Given the description of an element on the screen output the (x, y) to click on. 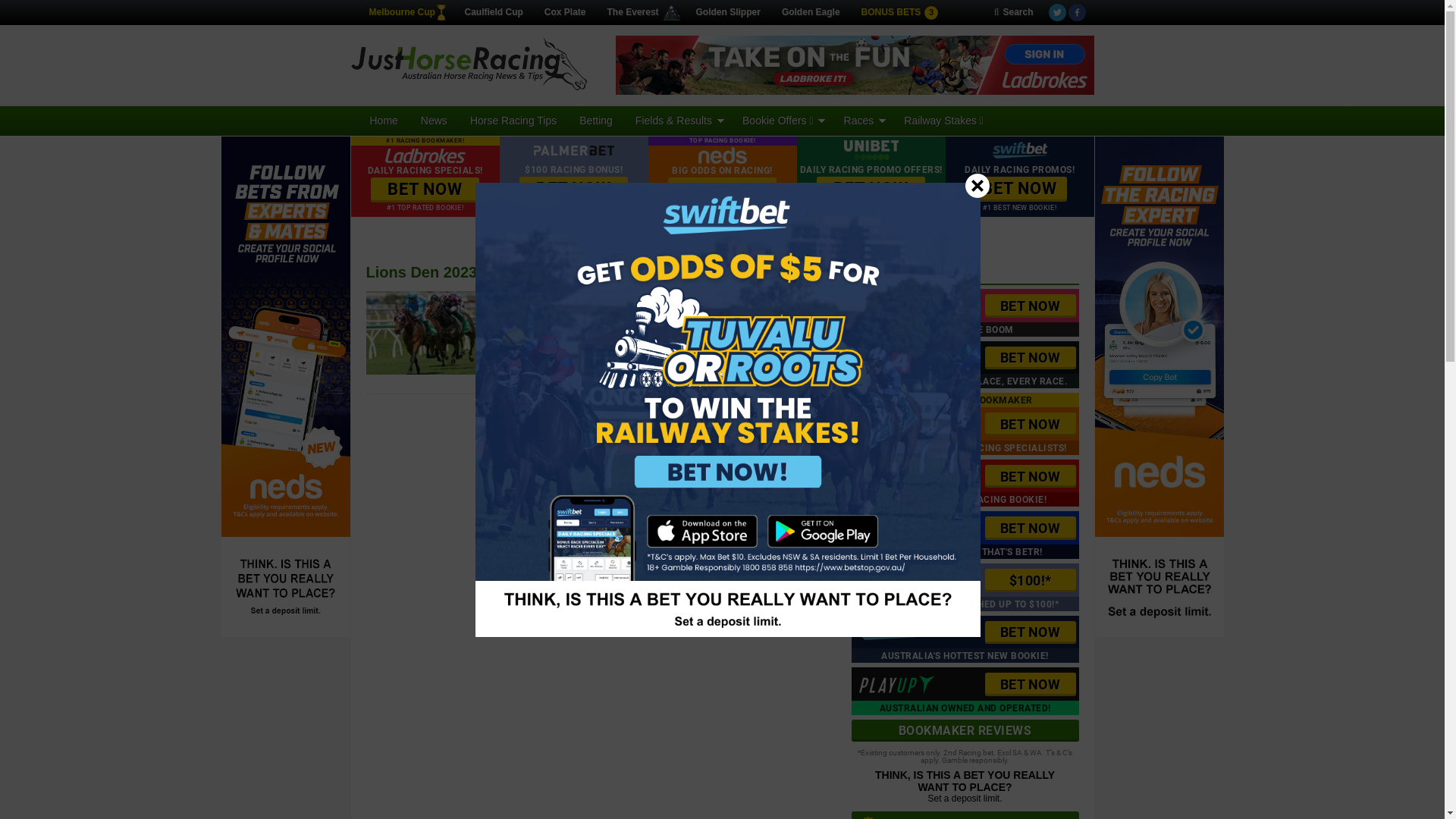
Horse Racing Tips Element type: text (512, 120)
Betting Element type: text (595, 120)
BET NOW Element type: text (722, 189)
BET NOW
GET IN ON THE BOOM Element type: text (964, 312)
BET NOW
AUSTRALIA'S HOTTEST NEW BOOKIE! Element type: text (964, 639)
BET NOW Element type: text (573, 188)
BET NOW Element type: text (1029, 358)
BET NOW Element type: text (1029, 305)
Races Element type: text (862, 120)
advertisement Element type: hover (854, 64)
$100!*
UP TO
2ND RACING BET MATCHED UP TO $100!* Element type: text (964, 587)
BET NOW
AUSTRALIAN OWNED AND OPERATED! Element type: text (964, 691)
BET NOW
TOP 4 BETTING. EXTRA PLACE, EVERY RACE. Element type: text (964, 365)
BET NOW Element type: text (1029, 632)
BET NOW
BET WITH A BOOKIE THAT'S BETR! Element type: text (964, 534)
Eagle Farm shows its worth in big wet Element type: hover (431, 371)
BET NOW Element type: text (424, 189)
Close Element type: hover (977, 184)
BET NOW Element type: text (1029, 424)
BET NOW Element type: text (1019, 188)
News Element type: text (433, 120)
BET NOW Element type: text (870, 188)
BET NOW Element type: text (1029, 527)
$100!* Element type: text (1029, 580)
BOOKMAKER REVIEWS Element type: text (964, 730)
BET NOW
TOP RATED HORSE RACING BOOKIE! Element type: text (964, 483)
Fields & Results Element type: text (677, 120)
Home Element type: text (382, 120)
Eagle Farm shows its worth in big wet Element type: text (613, 300)
BET NOW Element type: text (1029, 684)
BET NOW Element type: text (1029, 476)
